Given the description of an element on the screen output the (x, y) to click on. 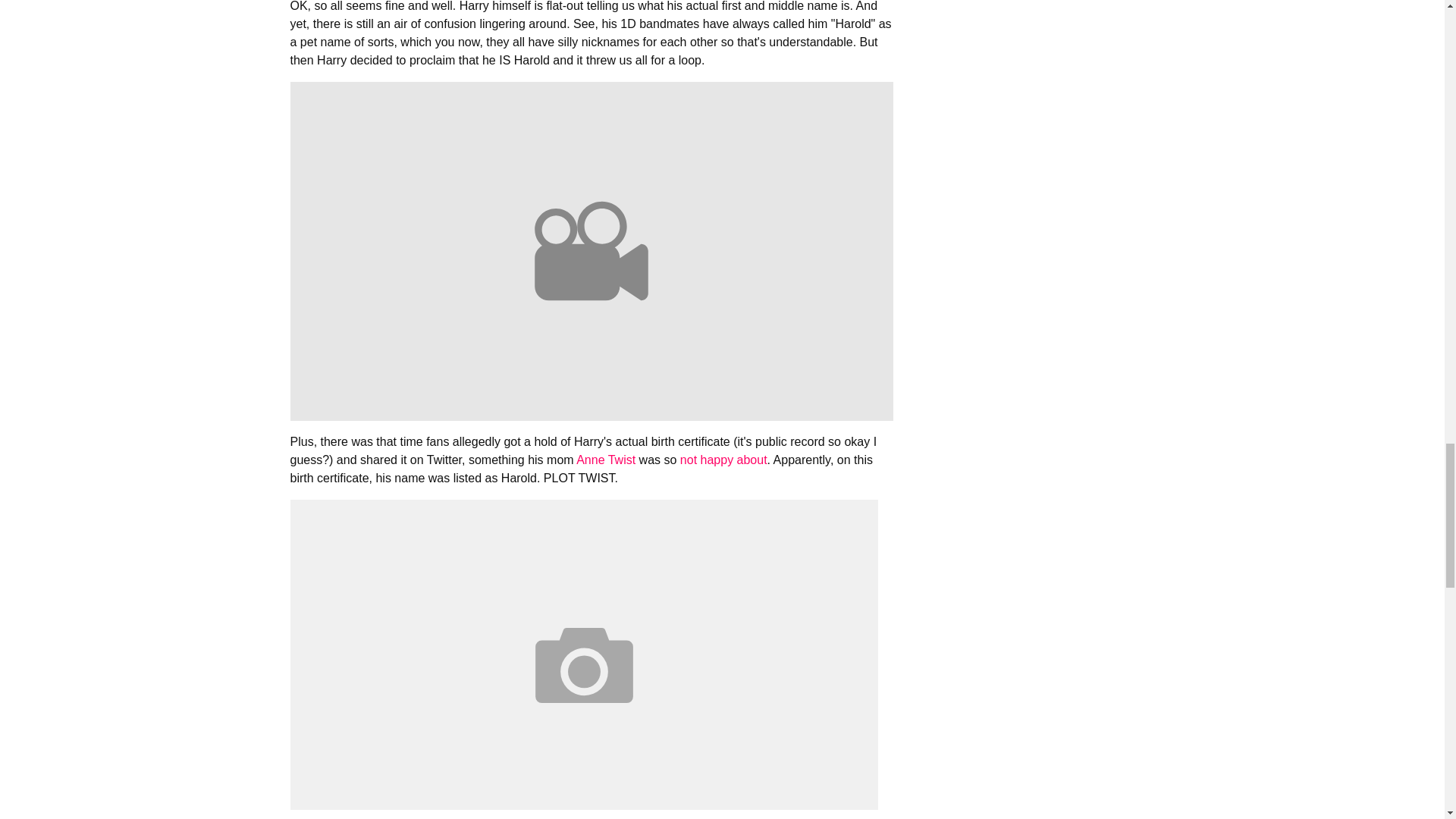
not happy about (723, 459)
Anne Twist (605, 459)
